Given the description of an element on the screen output the (x, y) to click on. 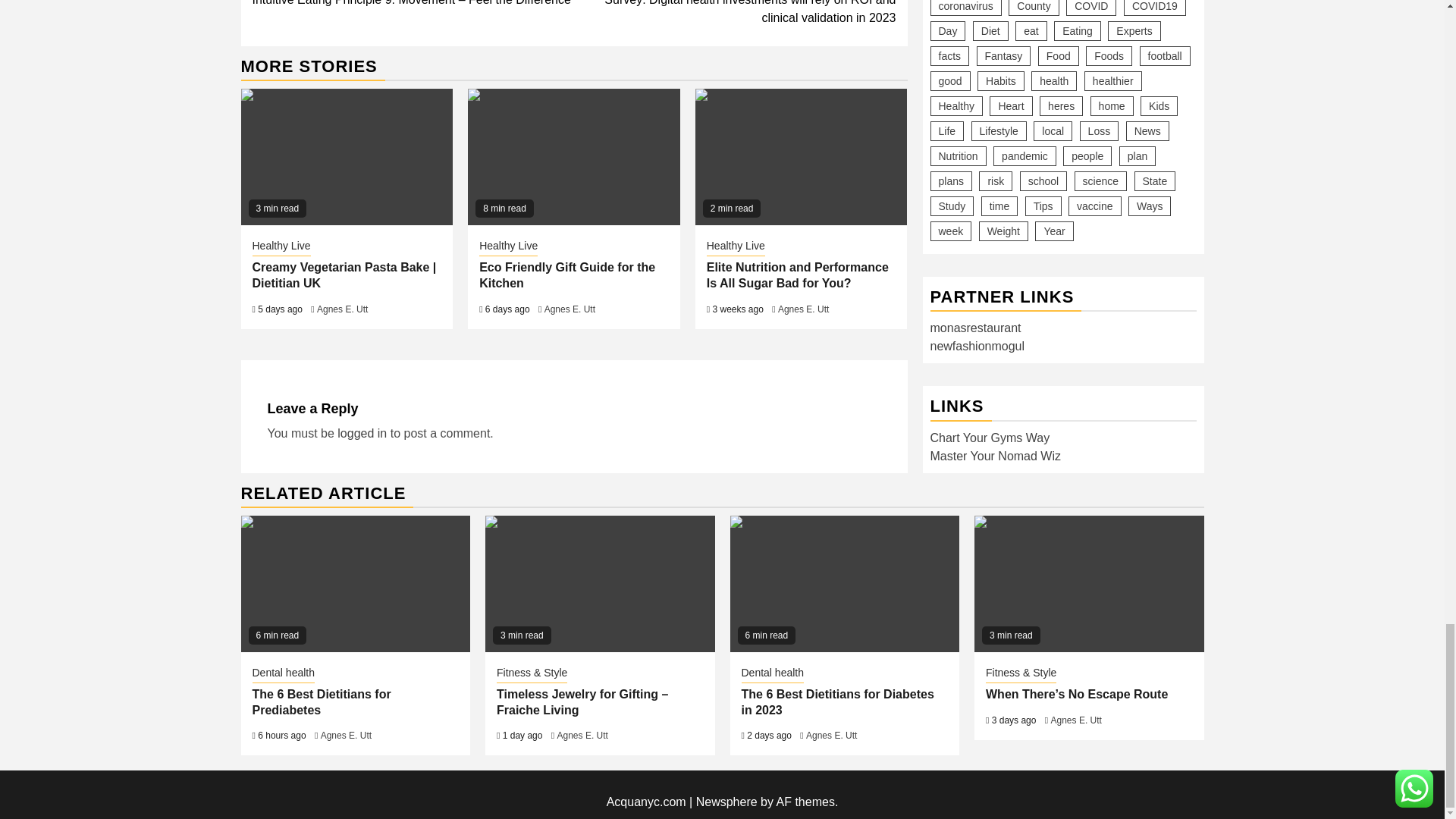
Agnes E. Utt (569, 308)
Healthy Live (735, 247)
Healthy Live (280, 247)
The 6 Best Dietitians for Prediabetes (355, 583)
Elite Nutrition and Performance Is All Sugar Bad for You? (801, 156)
Eco Friendly Gift Guide for the Kitchen (567, 275)
The 6 Best Dietitians for Diabetes in 2023 (844, 583)
Healthy Live (508, 247)
Elite Nutrition and Performance Is All Sugar Bad for You? (797, 275)
Agnes E. Utt (342, 308)
